Given the description of an element on the screen output the (x, y) to click on. 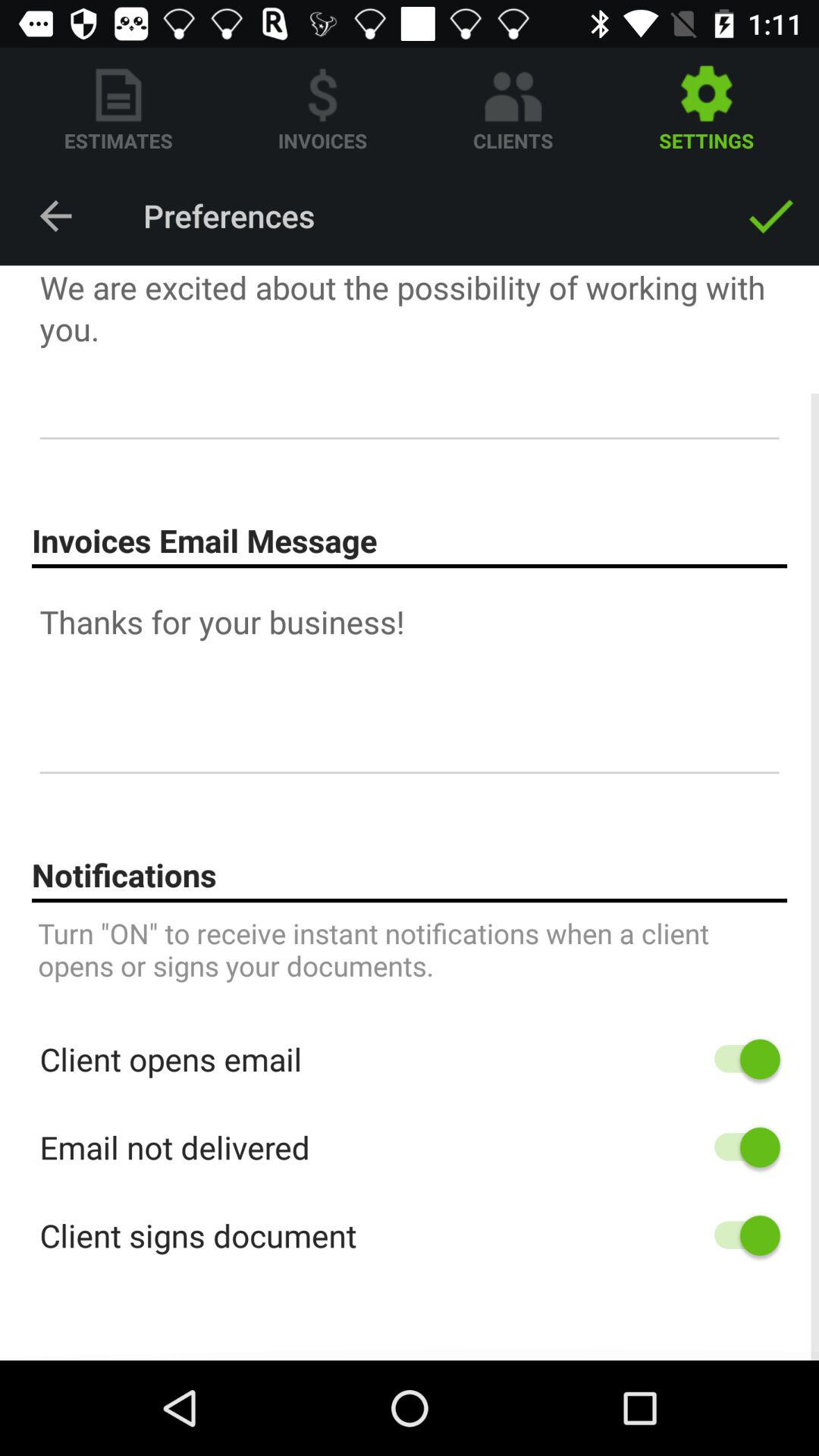
toggle setting (739, 1235)
